Given the description of an element on the screen output the (x, y) to click on. 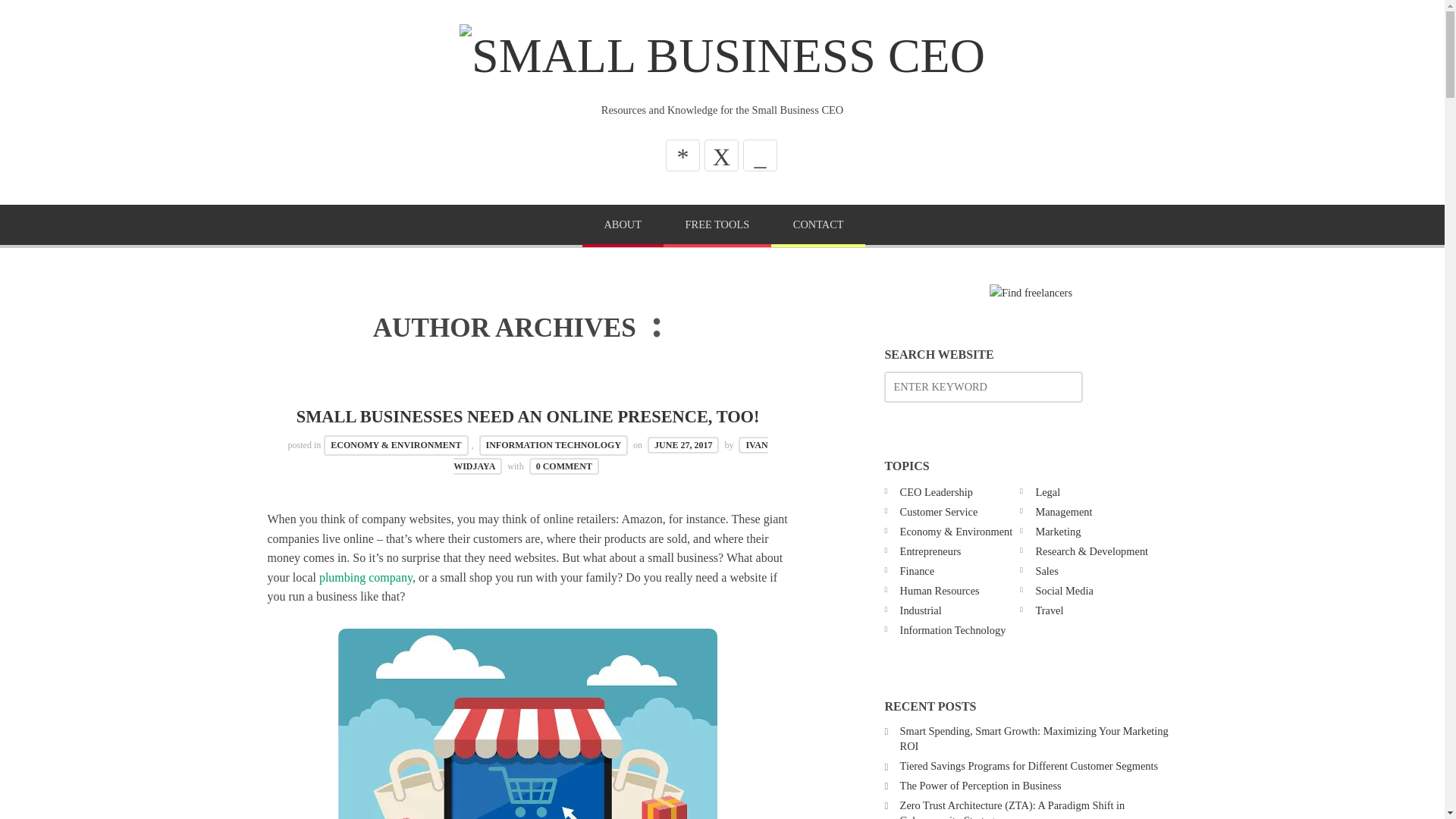
ABOUT (622, 225)
X (721, 155)
SMALL BUSINESSES NEED AN ONLINE PRESENCE, TOO! (528, 416)
IVAN WIDJAYA (609, 455)
INFORMATION TECHNOLOGY (553, 444)
0 COMMENT (563, 466)
8:53 pm (683, 444)
CONTACT (817, 225)
View all posts by Ivan Widjaya (609, 455)
JUNE 27, 2017 (683, 444)
FREE TOOLS (717, 225)
plumbing company (365, 576)
